Given the description of an element on the screen output the (x, y) to click on. 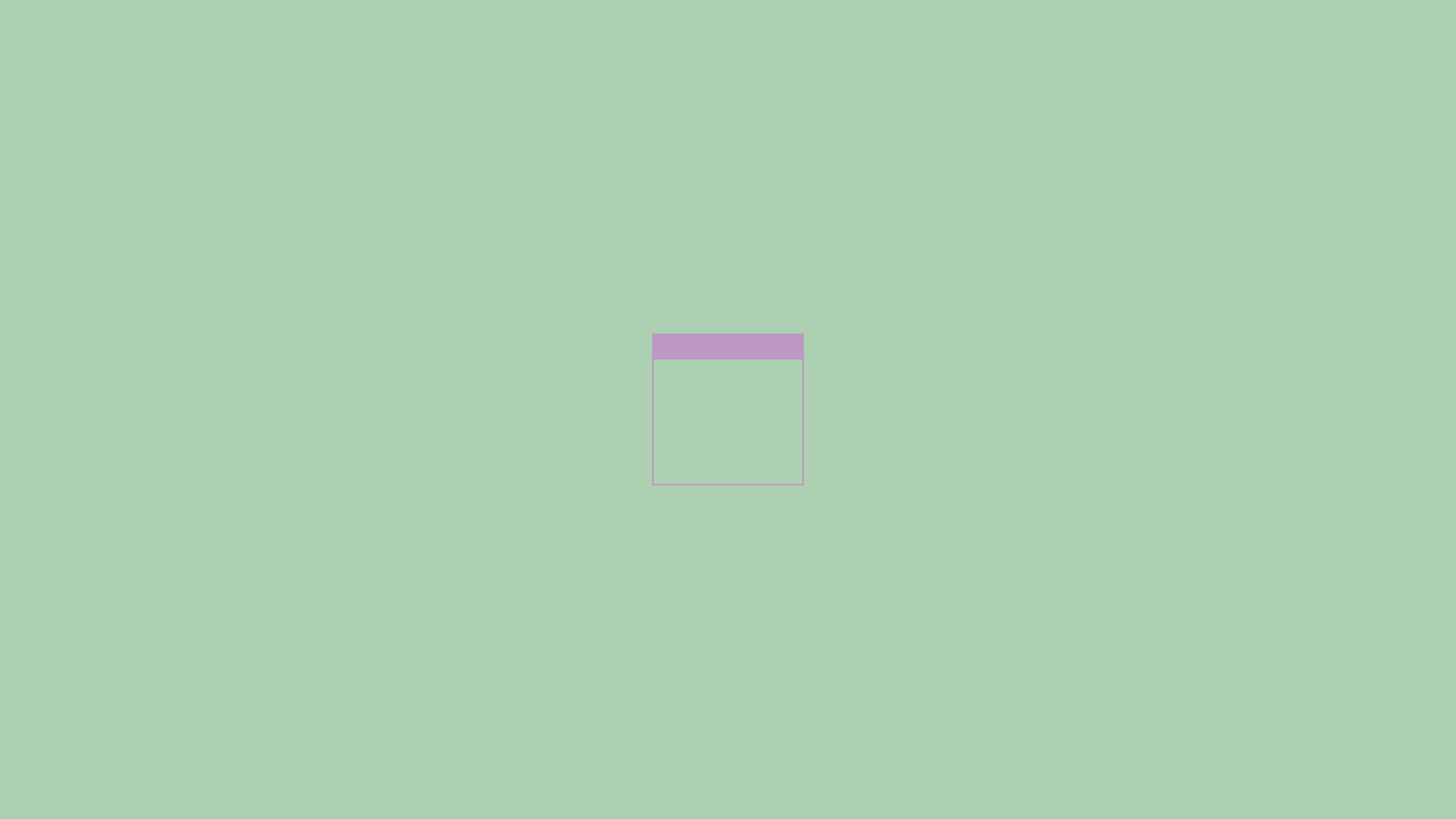
SAVOIR-FAIRE Element type: text (1240, 55)
A PROPOS Element type: text (981, 55)
ACCUEIL Element type: text (878, 55)
PHILOSOPHIE Element type: text (1102, 55)
CONTACT Element type: text (1362, 55)
